Given the description of an element on the screen output the (x, y) to click on. 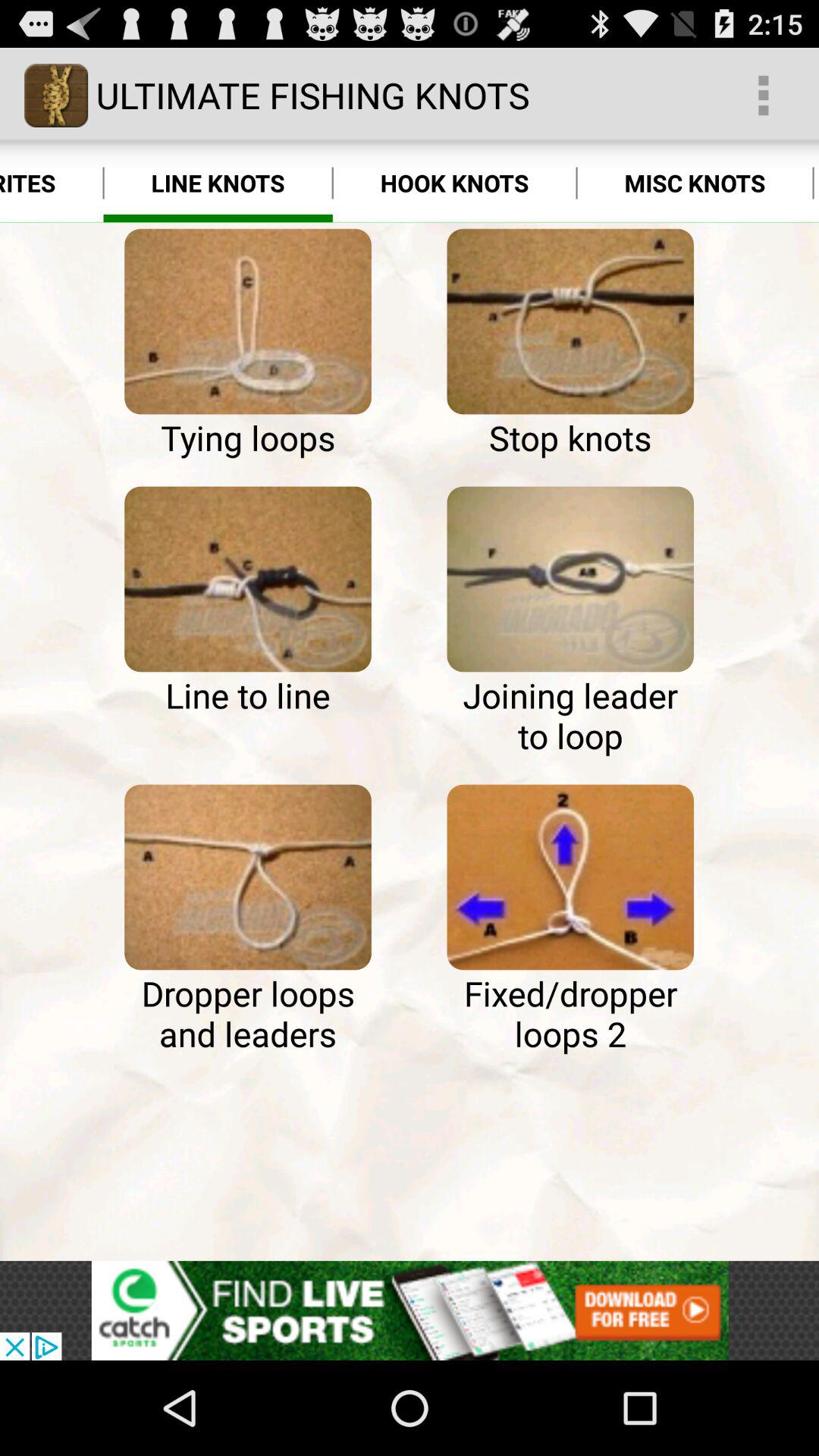
go to dropper loops and leaders category (247, 876)
